Given the description of an element on the screen output the (x, y) to click on. 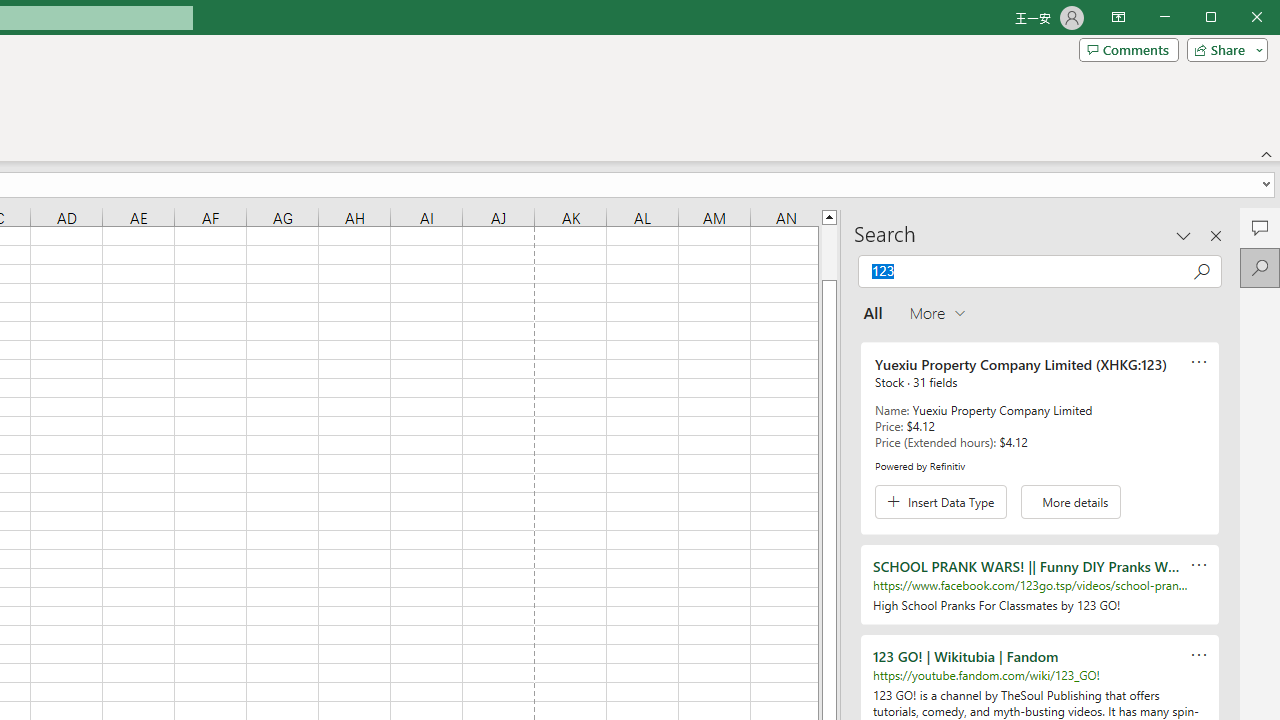
Maximize (1239, 18)
Search (1260, 267)
Page up (829, 252)
